Given the description of an element on the screen output the (x, y) to click on. 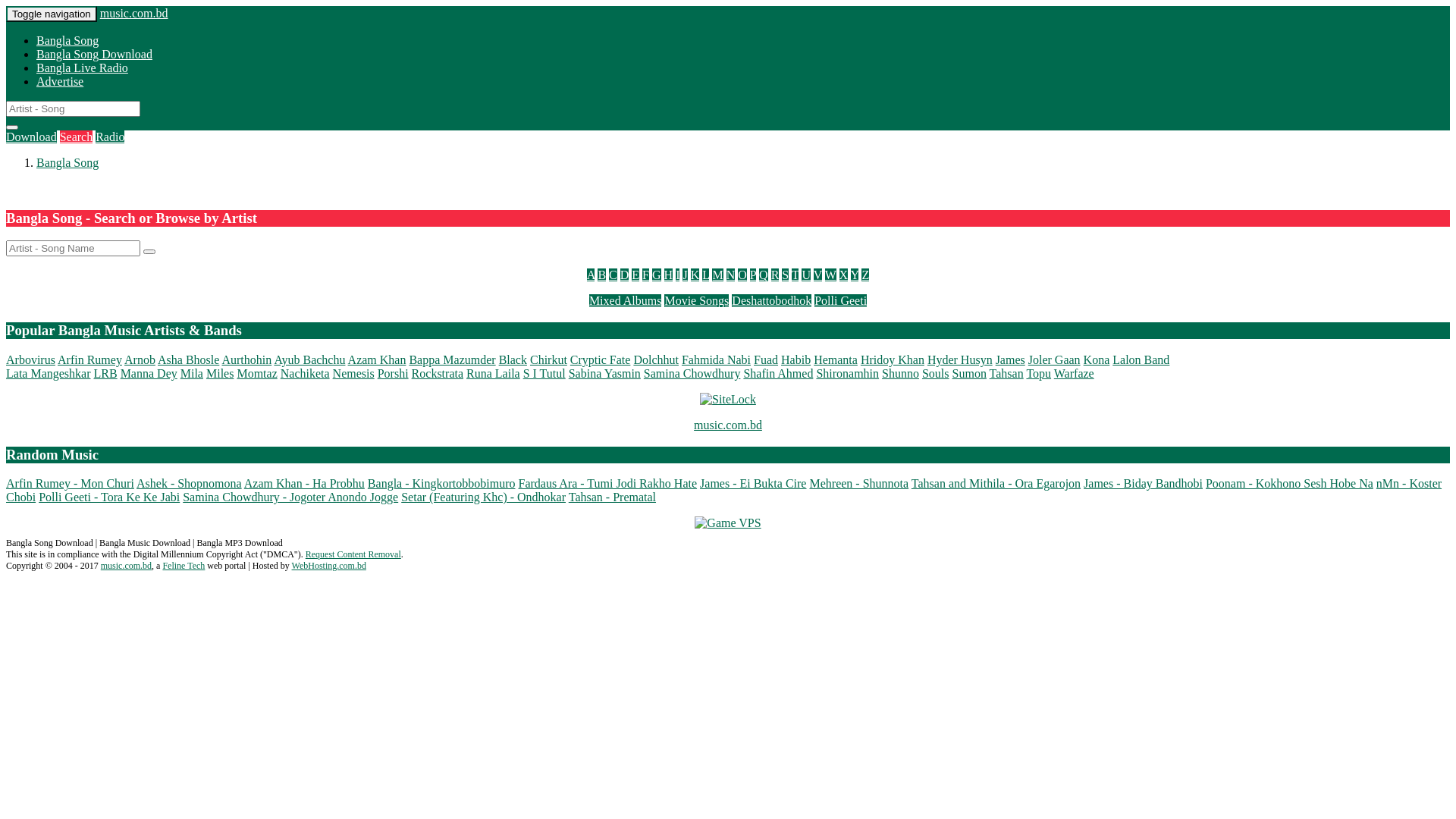
C Element type: text (612, 274)
Radio Element type: text (109, 136)
Porshi Element type: text (392, 373)
Souls Element type: text (935, 373)
nMn - Koster Chobi Element type: text (723, 489)
S I Tutul Element type: text (544, 373)
K Element type: text (694, 274)
A Element type: text (590, 274)
Tahsan - Prematal Element type: text (611, 496)
Kona Element type: text (1096, 359)
Miles Element type: text (219, 373)
Poonam - Kokhono Sesh Hobe Na Element type: text (1289, 482)
V Element type: text (817, 274)
Rockstrata Element type: text (437, 373)
Shafin Ahmed Element type: text (777, 373)
Hyder Husyn Element type: text (959, 359)
I Element type: text (677, 274)
Sumon Element type: text (969, 373)
Download Element type: text (31, 136)
Habib Element type: text (795, 359)
Warfaze Element type: text (1074, 373)
James - Ei Bukta Cire Element type: text (752, 482)
Nachiketa Element type: text (304, 373)
Dolchhut Element type: text (655, 359)
Arfin Rumey Element type: text (89, 359)
Black Element type: text (512, 359)
Tahsan and Mithila - Ora Egarojon Element type: text (995, 482)
Topu Element type: text (1038, 373)
Deshattobodhok Element type: text (771, 300)
Y Element type: text (854, 274)
Mixed Albums Element type: text (625, 300)
Shironamhin Element type: text (846, 373)
Arbovirus Element type: text (30, 359)
Bappa Mazumder Element type: text (451, 359)
Joler Gaan Element type: text (1054, 359)
Shunno Element type: text (900, 373)
Setar (Featuring Khc) - Ondhokar Element type: text (483, 496)
Search Element type: text (76, 136)
Arnob Element type: text (139, 359)
Cryptic Fate Element type: text (600, 359)
Aurthohin Element type: text (246, 359)
Toggle navigation Element type: text (51, 13)
Mila Element type: text (191, 373)
F Element type: text (645, 274)
LRB Element type: text (105, 373)
U Element type: text (805, 274)
O Element type: text (741, 274)
SiteLock Element type: hover (727, 399)
Manna Dey Element type: text (148, 373)
Fardaus Ara - Tumi Jodi Rakho Hate Element type: text (607, 482)
J Element type: text (684, 274)
Samina Chowdhury Element type: text (691, 373)
WebHosting.com.bd Element type: text (328, 565)
D Element type: text (624, 274)
music.com.bd Element type: text (727, 424)
Polli Geeti - Tora Ke Ke Jabi Element type: text (108, 496)
Bangla Live Radio Element type: text (82, 67)
Momtaz Element type: text (256, 373)
Arfin Rumey - Mon Churi Element type: text (70, 482)
Mehreen - Shunnota Element type: text (858, 482)
Feline Tech Element type: text (183, 565)
James - Biday Bandhobi Element type: text (1142, 482)
Lalon Band Element type: text (1140, 359)
M Element type: text (717, 274)
Bangla - Kingkortobbobimuro Element type: text (441, 482)
James Element type: text (1010, 359)
H Element type: text (668, 274)
Ayub Bachchu Element type: text (309, 359)
Nemesis Element type: text (353, 373)
Bangla Song Element type: text (67, 162)
X Element type: text (843, 274)
Hridoy Khan Element type: text (892, 359)
Sabina Yasmin Element type: text (604, 373)
Azam Khan Element type: text (377, 359)
G Element type: text (656, 274)
S Element type: text (784, 274)
Advertise Element type: text (59, 81)
Bangla Song Element type: text (67, 40)
P Element type: text (752, 274)
Bangla Song Download Element type: text (94, 53)
B Element type: text (601, 274)
Runa Laila Element type: text (493, 373)
Fahmida Nabi Element type: text (715, 359)
Hemanta Element type: text (835, 359)
Z Element type: text (865, 274)
Asha Bhosle Element type: text (188, 359)
Fuad Element type: text (765, 359)
music.com.bd Element type: text (125, 565)
N Element type: text (730, 274)
Ashek - Shopnomona Element type: text (188, 482)
music.com.bd Element type: text (134, 12)
Lata Mangeshkar Element type: text (48, 373)
R Element type: text (775, 274)
Q Element type: text (763, 274)
Polli Geeti Element type: text (840, 300)
E Element type: text (635, 274)
Request Content Removal Element type: text (353, 554)
Movie Songs Element type: text (696, 300)
Azam Khan - Ha Probhu Element type: text (304, 482)
T Element type: text (794, 274)
Chirkut Element type: text (548, 359)
W Element type: text (830, 274)
L Element type: text (705, 274)
Tahsan Element type: text (1006, 373)
Samina Chowdhury - Jogoter Anondo Jogge Element type: text (290, 496)
